Given the description of an element on the screen output the (x, y) to click on. 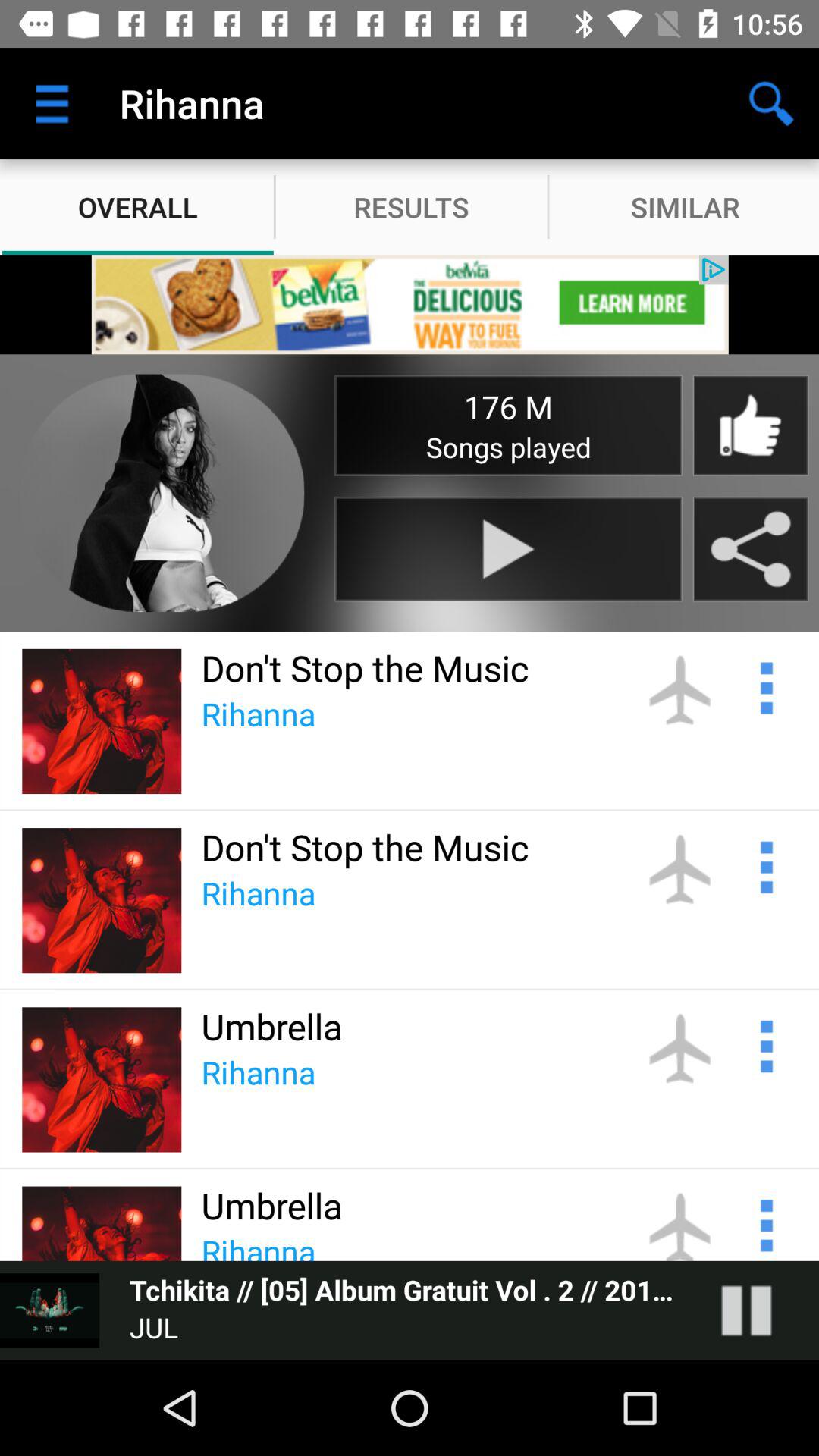
go to select option (764, 1223)
